Given the description of an element on the screen output the (x, y) to click on. 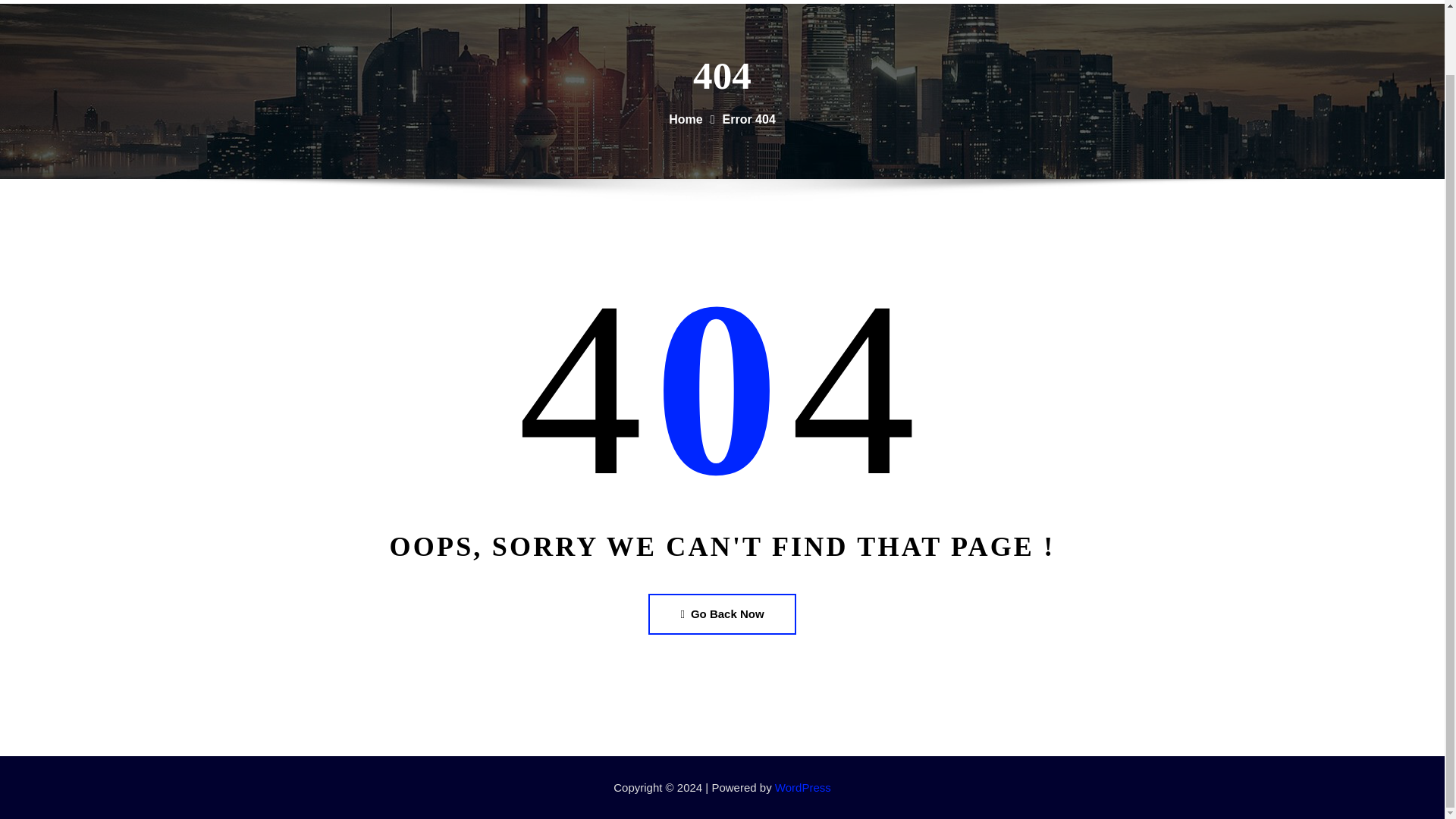
WordPress (802, 787)
Home (684, 119)
Home (1250, 2)
Go Back Now (720, 613)
Error 404 (749, 119)
